Given the description of an element on the screen output the (x, y) to click on. 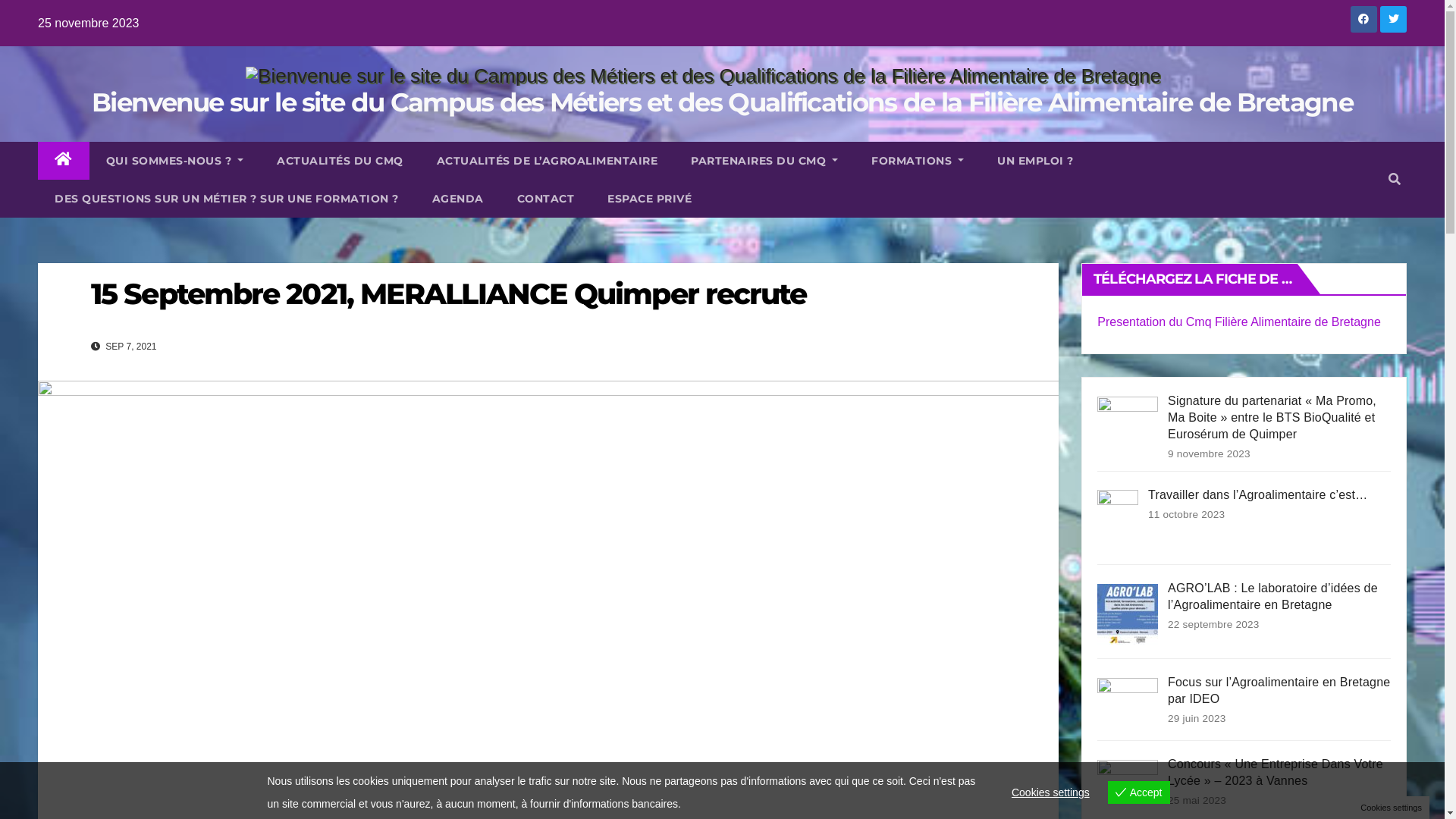
AGENDA Element type: text (457, 198)
FORMATIONS Element type: text (917, 160)
CONTACT Element type: text (545, 198)
QUI SOMMES-NOUS ? Element type: text (174, 160)
UN EMPLOI ? Element type: text (1035, 160)
PARTENAIRES DU CMQ Element type: text (764, 160)
15 Septembre 2021, MERALLIANCE Quimper recrute Element type: text (448, 293)
